Given the description of an element on the screen output the (x, y) to click on. 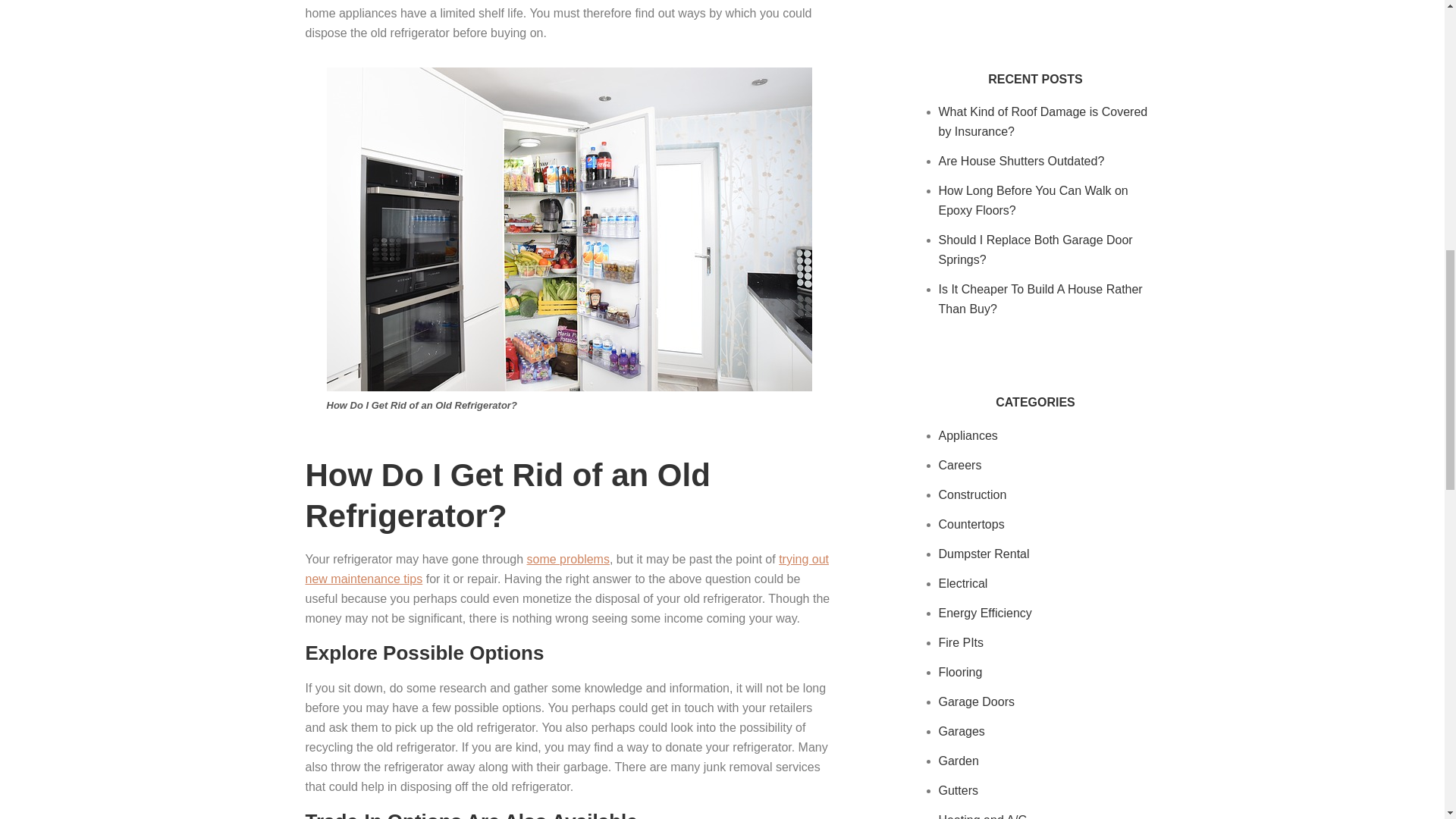
Energy Efficiency (985, 612)
What Kind of Roof Damage is Covered by Insurance? (1043, 121)
some problems (568, 558)
Should I Replace Both Garage Door Springs? (1035, 249)
Fire PIts (961, 642)
Electrical (963, 583)
Flooring (960, 671)
Are House Shutters Outdated? (1022, 160)
Countertops (971, 523)
Garage Doors (976, 701)
trying out new maintenance tips (566, 568)
How Long Before You Can Walk on Epoxy Floors? (1033, 200)
Is It Cheaper To Build A House Rather Than Buy? (1040, 298)
Dumpster Rental (984, 553)
Appliances (968, 435)
